Given the description of an element on the screen output the (x, y) to click on. 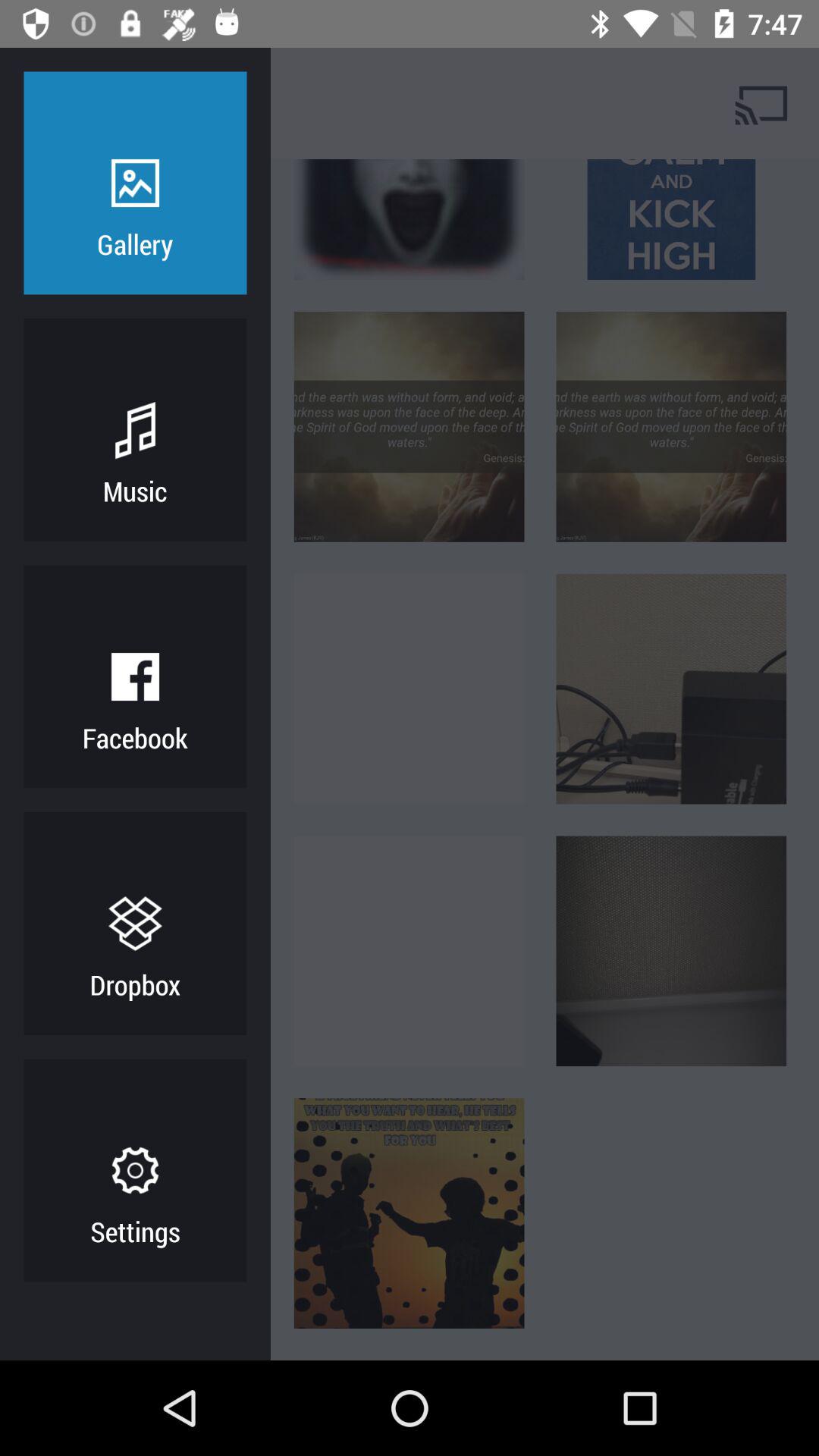
scroll until the settings icon (135, 1231)
